Given the description of an element on the screen output the (x, y) to click on. 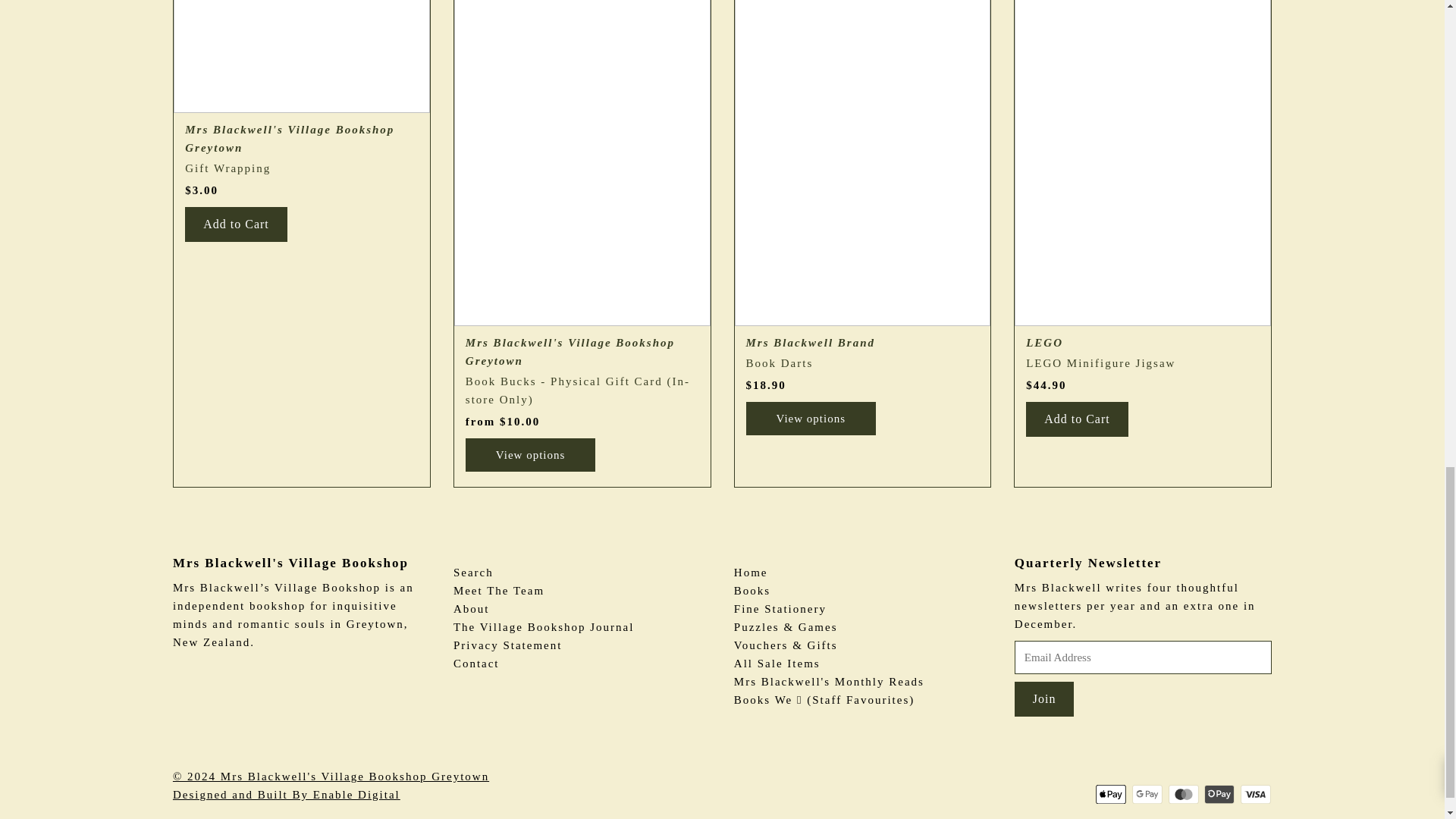
Shop Pay (1219, 793)
Google Pay (1146, 793)
Add to Cart (1077, 419)
Join (1044, 697)
Visa (1255, 793)
Add to Cart (235, 224)
Apple Pay (1110, 793)
Mastercard (1183, 793)
